Given the description of an element on the screen output the (x, y) to click on. 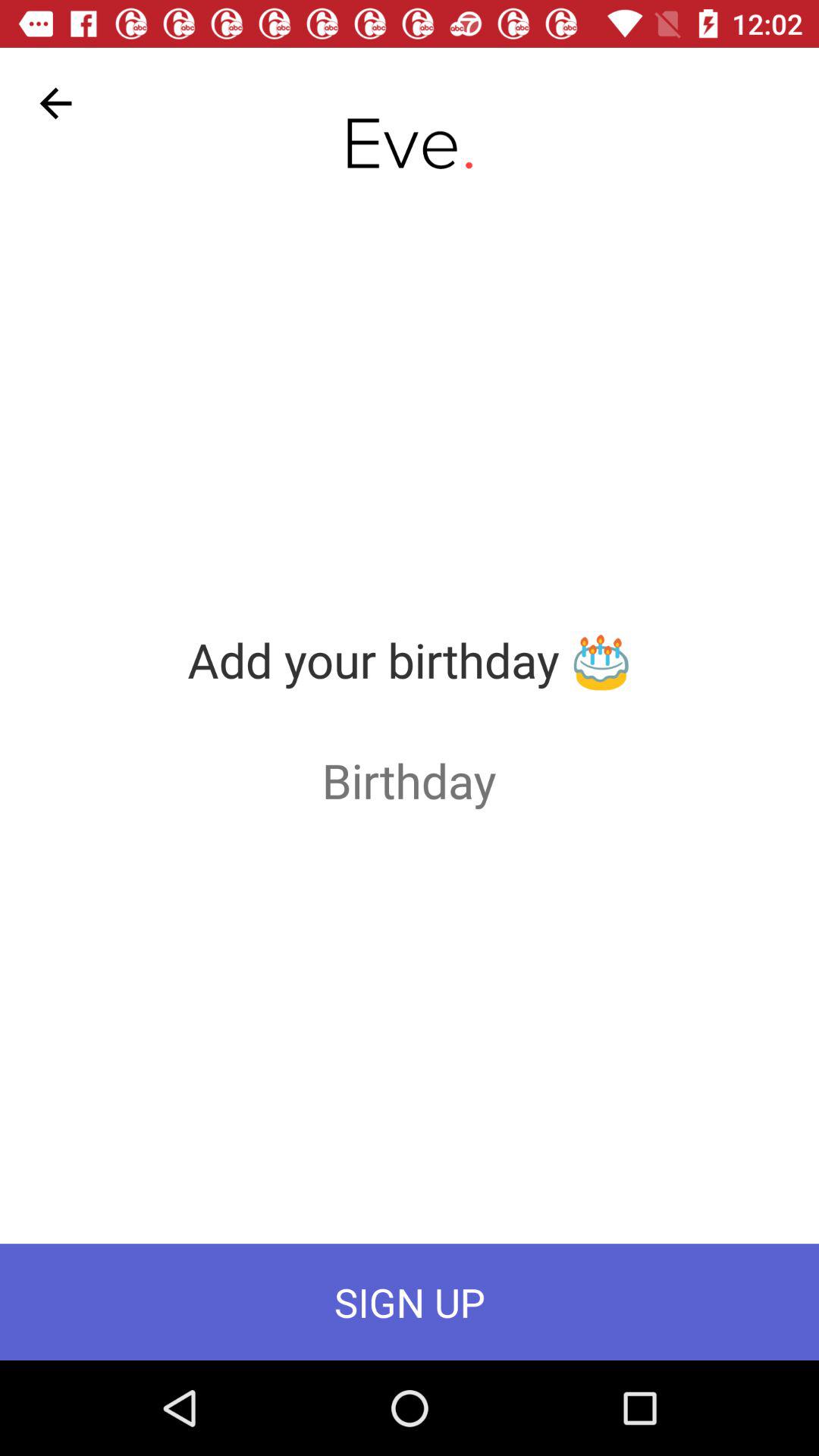
go to previous (55, 103)
